Given the description of an element on the screen output the (x, y) to click on. 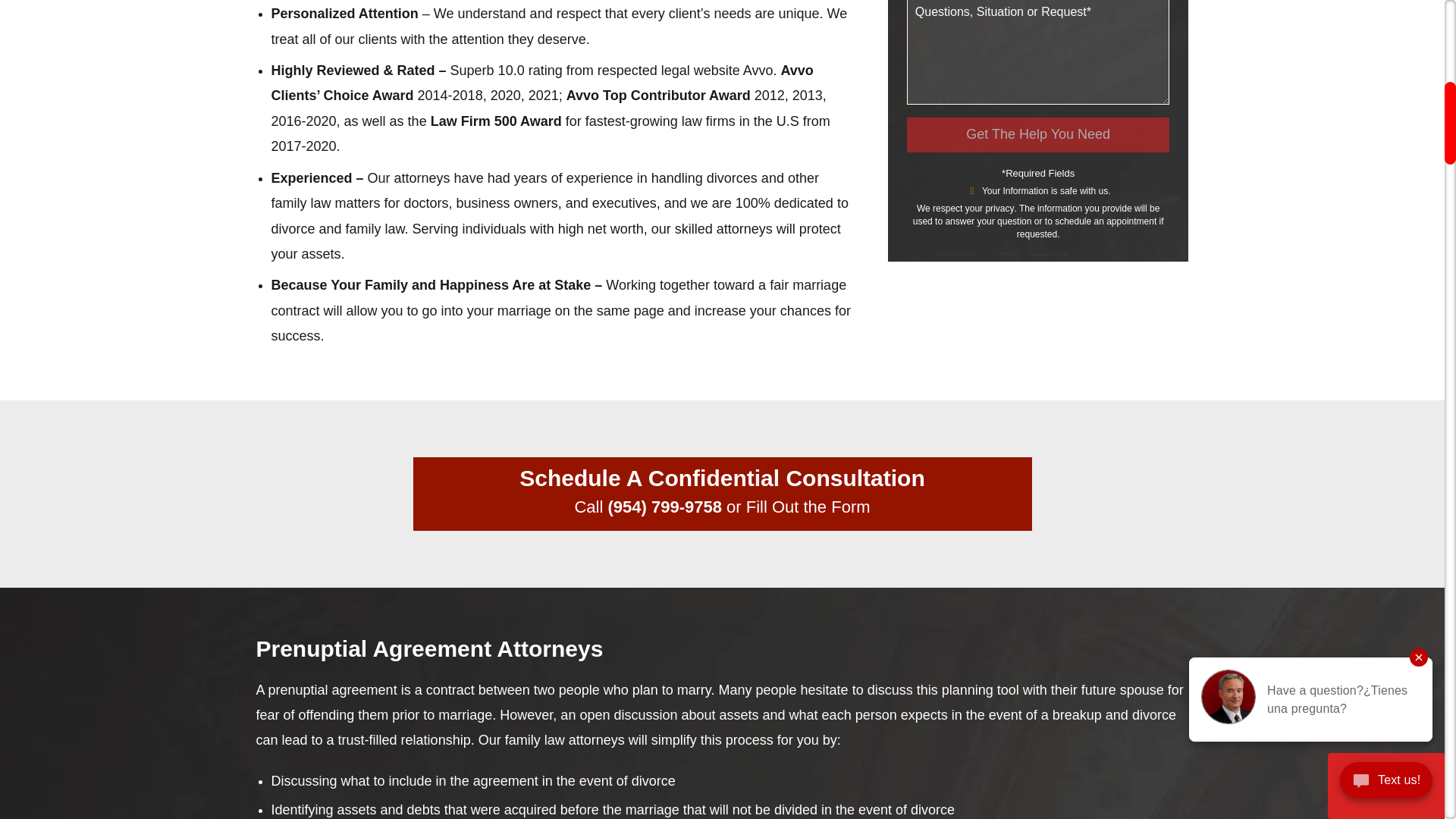
Get The Help You Need (1038, 134)
